Given the description of an element on the screen output the (x, y) to click on. 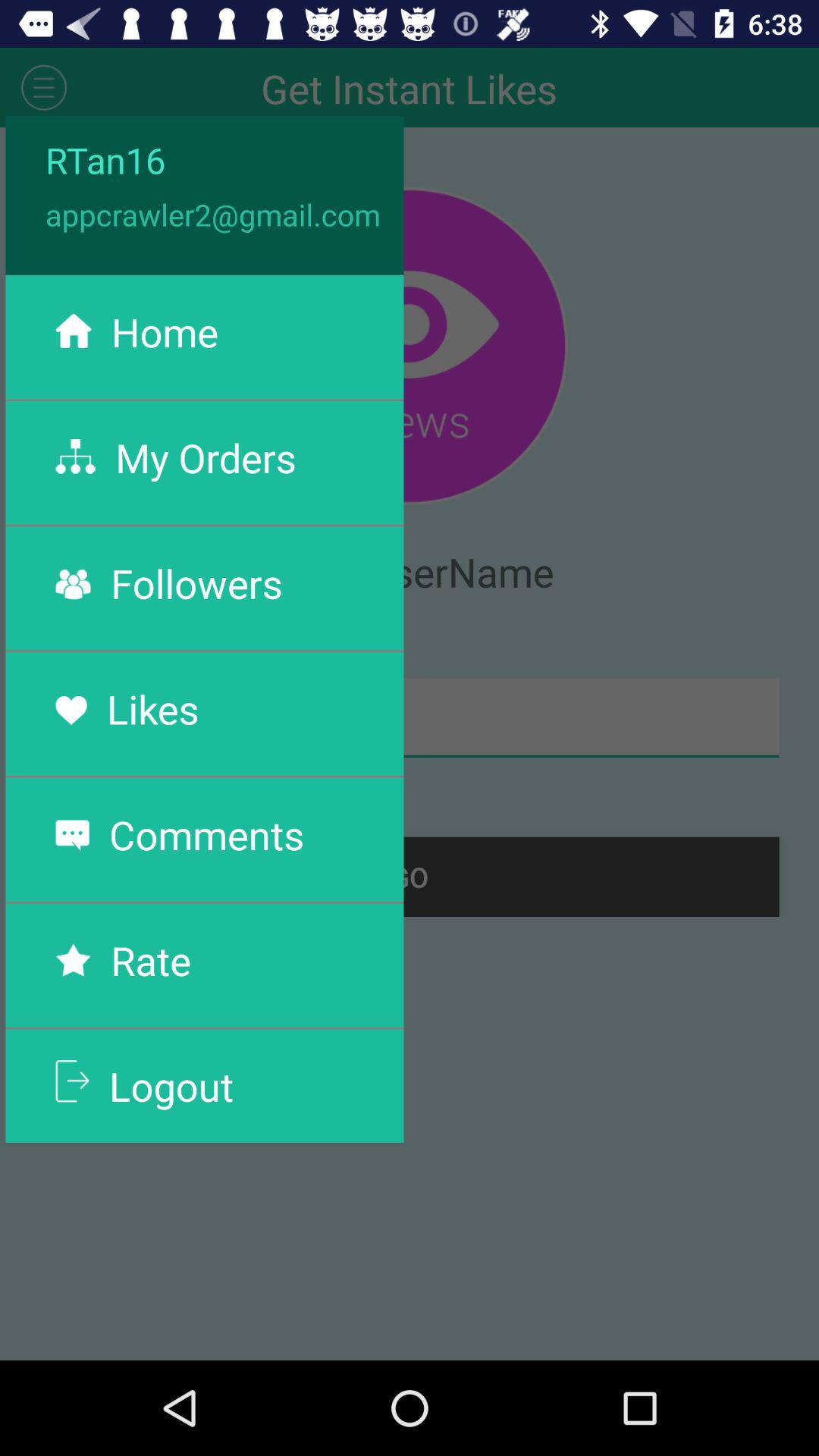
scroll to the followers item (196, 582)
